Given the description of an element on the screen output the (x, y) to click on. 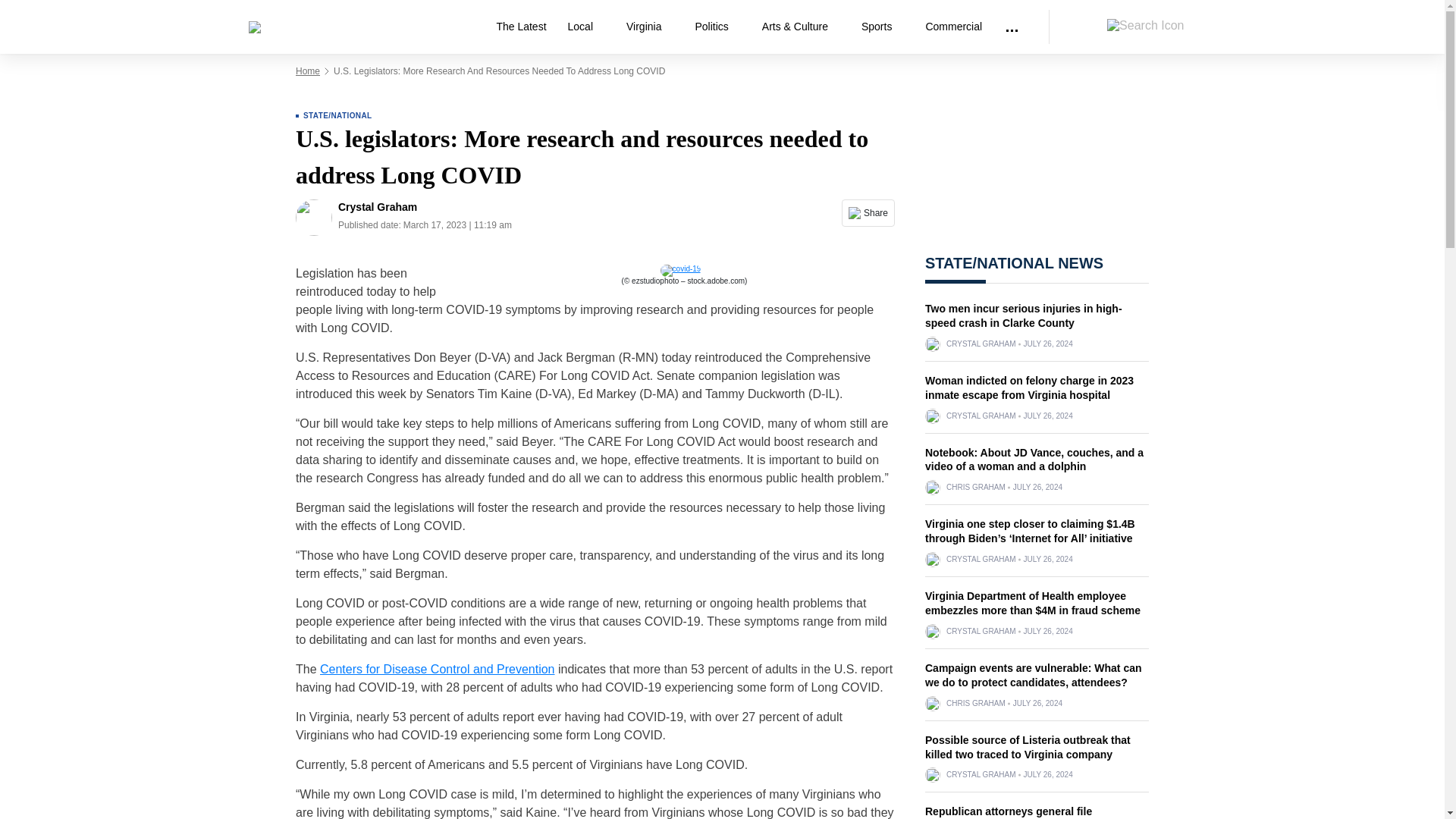
Politics (717, 27)
Local (586, 27)
Virginia (649, 27)
Sports (882, 27)
The Latest (520, 27)
Commercial (953, 27)
